Given the description of an element on the screen output the (x, y) to click on. 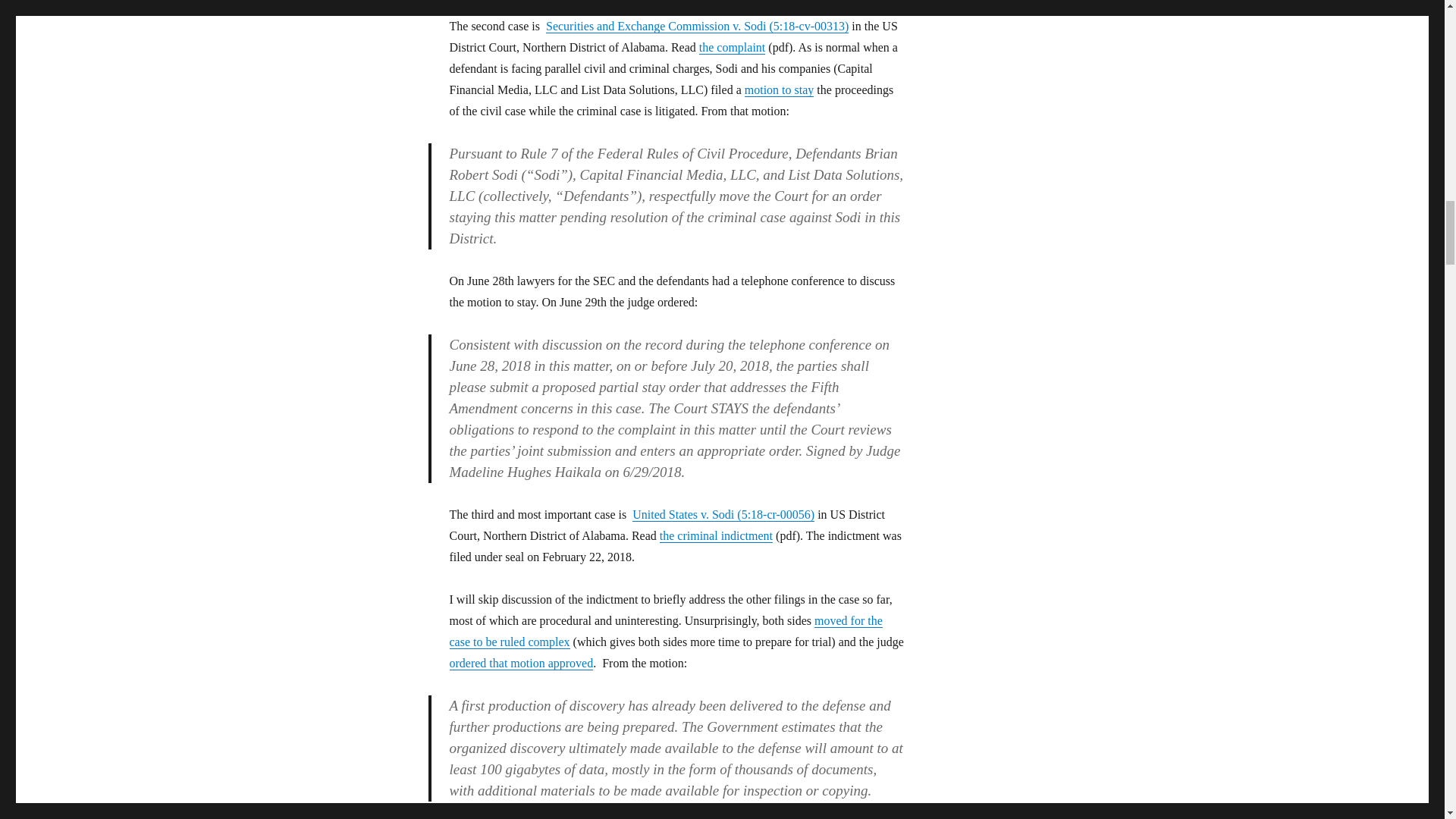
motion to stay (778, 89)
the complaint (731, 47)
moved for the case to be ruled complex (665, 631)
the criminal indictment (716, 535)
ordered that motion approved (520, 662)
